Given the description of an element on the screen output the (x, y) to click on. 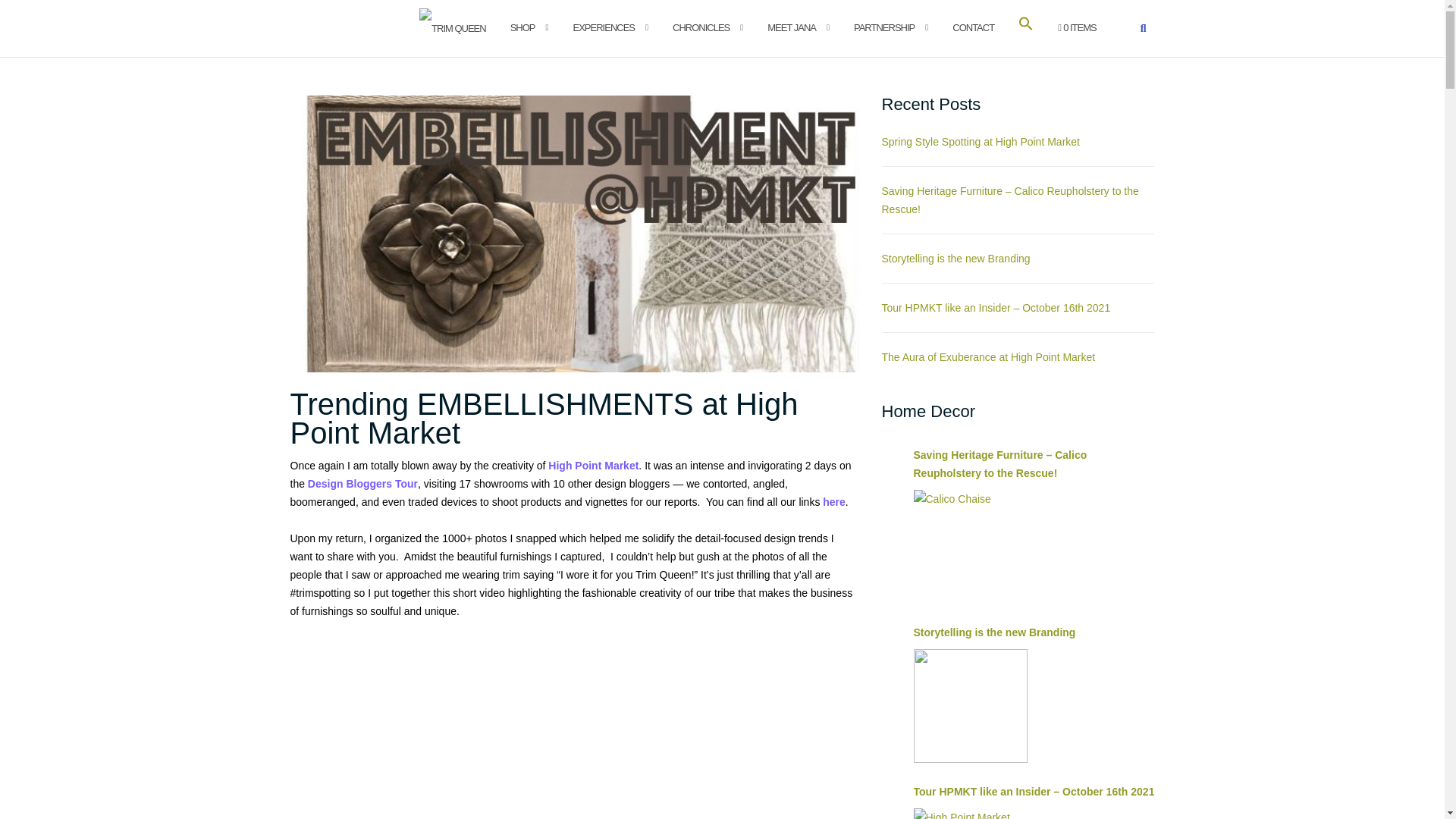
here (833, 501)
PARTNERSHIP (883, 28)
CONTACT (973, 28)
EXPERIENCES (603, 28)
0 ITEMS (1077, 28)
Experiences (603, 28)
Trending EMBELLISHMENTS at High Point Market (543, 418)
Meet Jana (791, 28)
Design Bloggers Tour (362, 483)
CHRONICLES (700, 28)
Home (452, 28)
Chronicles (700, 28)
MEET JANA (791, 28)
High Point Market (593, 465)
